Given the description of an element on the screen output the (x, y) to click on. 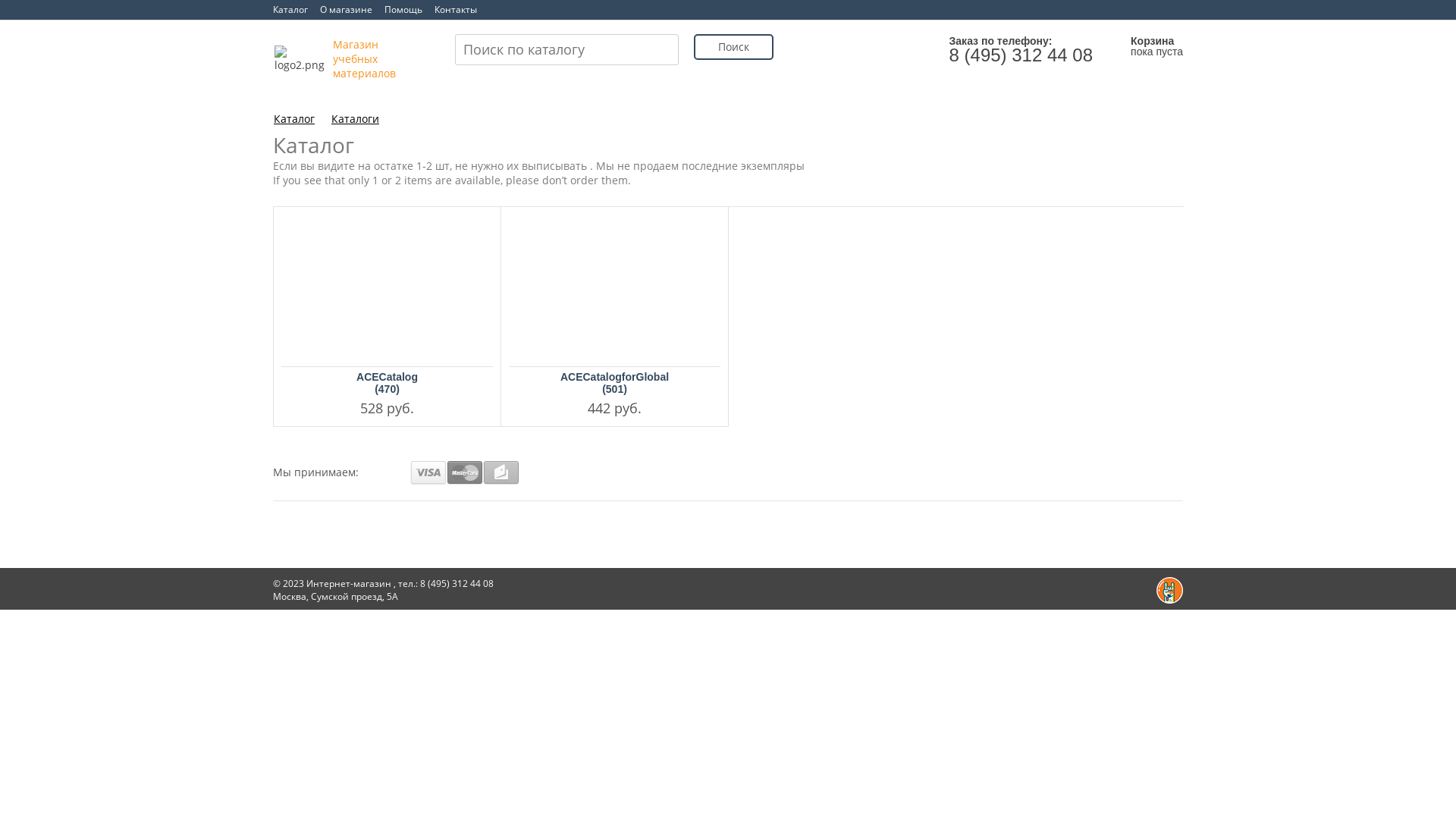
VISA Element type: hover (428, 473)
ACECatalog
(470) Element type: text (386, 382)
ACECatalogforGlobal
(501) Element type: text (614, 382)
logo2.png Element type: hover (302, 58)
Mastercard Element type: hover (464, 473)
